Given the description of an element on the screen output the (x, y) to click on. 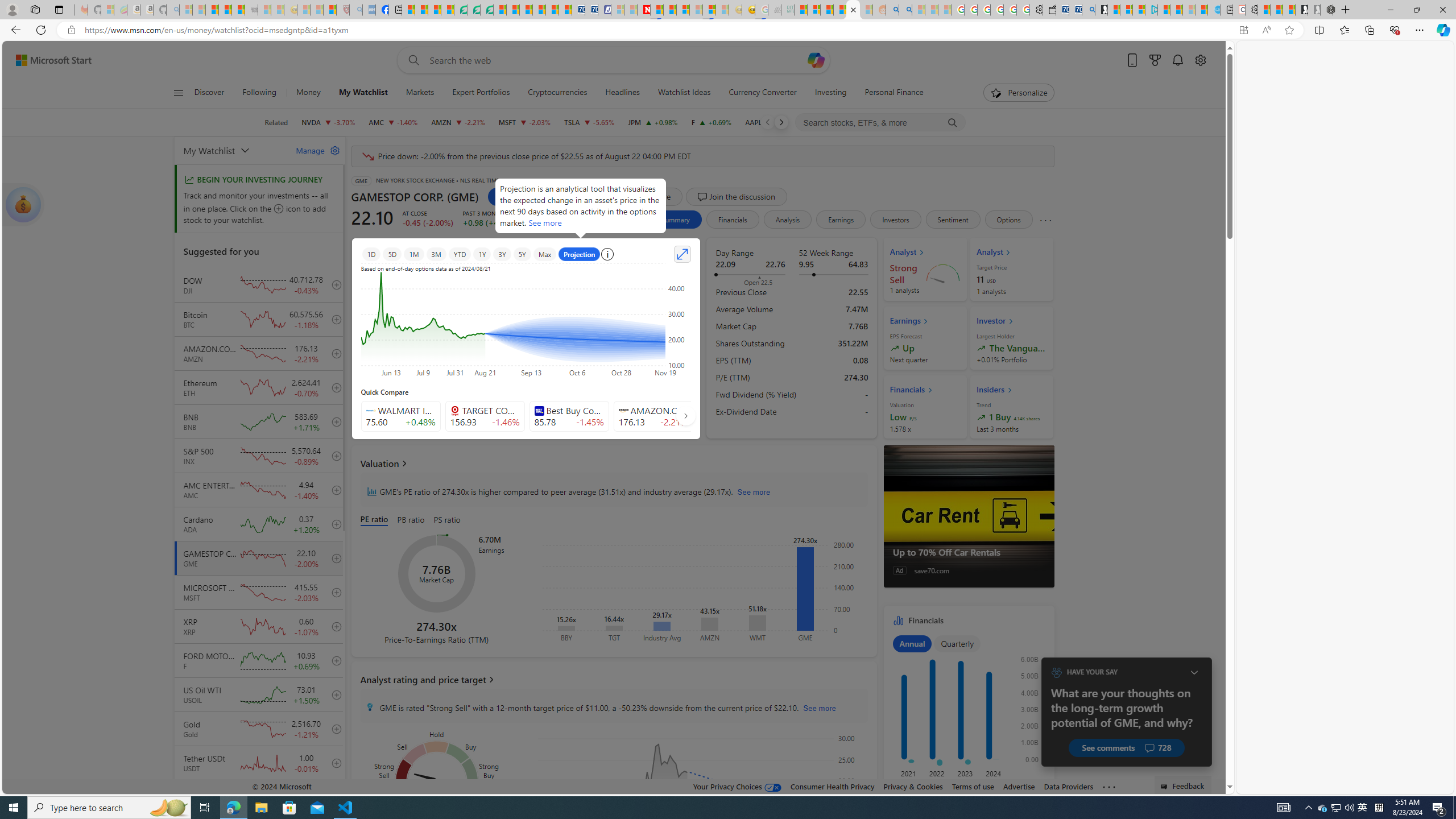
3Y (502, 254)
Expert Portfolios (480, 92)
Skip to footer (46, 59)
Money (308, 92)
Cryptocurrencies (557, 92)
JPM JPMORGAN CHASE & CO. increase 216.71 +2.11 +0.98% (652, 122)
My Watchlist (232, 150)
Following (259, 92)
Open Copilot (815, 59)
Cheap Hotels - Save70.com (590, 9)
Microsoft Word - consumer-privacy address update 2.2021 (486, 9)
